Given the description of an element on the screen output the (x, y) to click on. 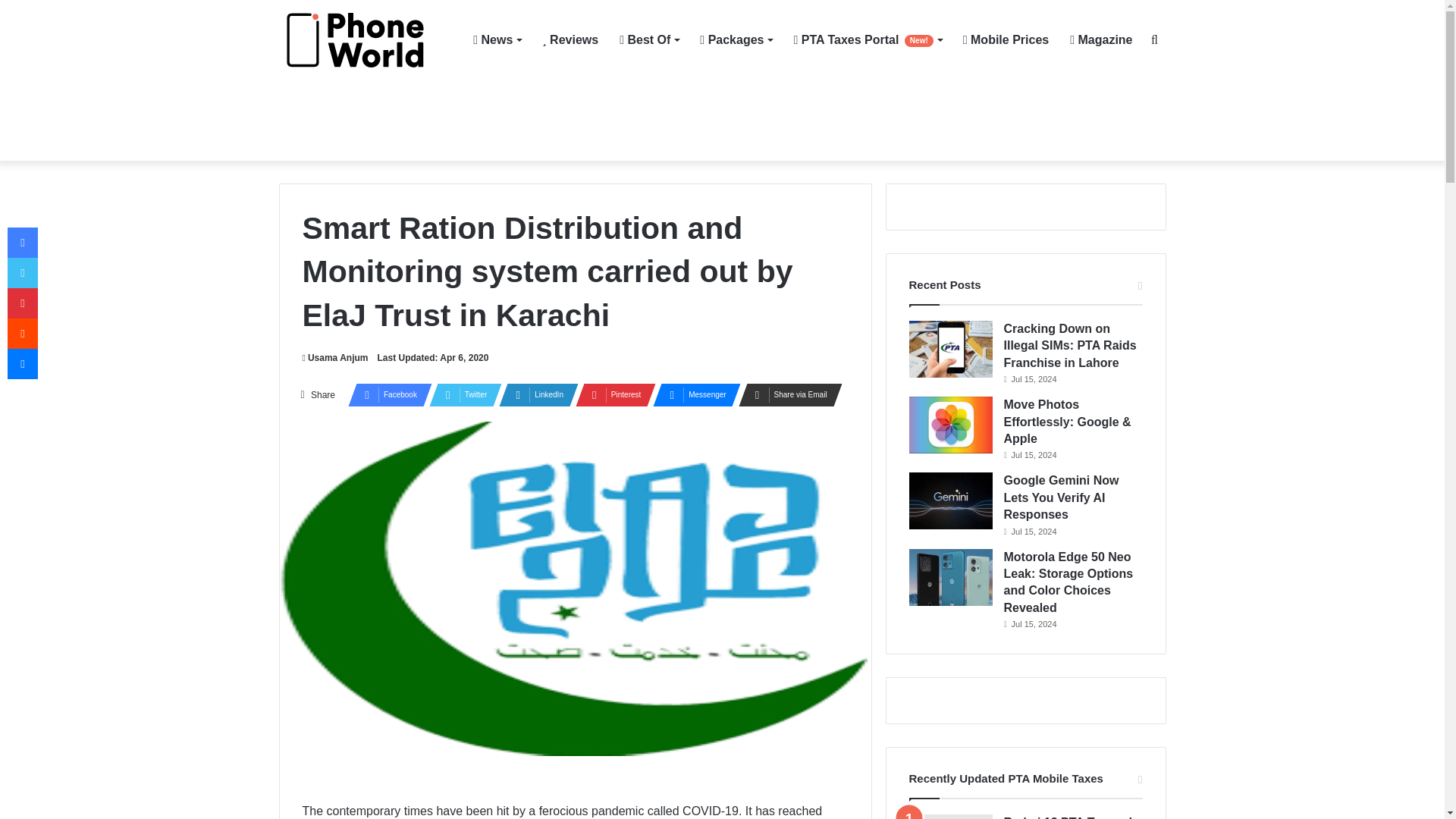
Reviews (569, 40)
Facebook (385, 395)
Twitter (461, 395)
Mobile Prices (1005, 40)
Pinterest (610, 395)
Usama Anjum (334, 357)
News (497, 40)
Share via Email (785, 395)
LinkedIn (534, 395)
PhoneWorld (362, 40)
Packages (735, 40)
Magazine (1100, 40)
Best Of (648, 40)
PTA Taxes Portal New! (867, 40)
Messenger (692, 395)
